Given the description of an element on the screen output the (x, y) to click on. 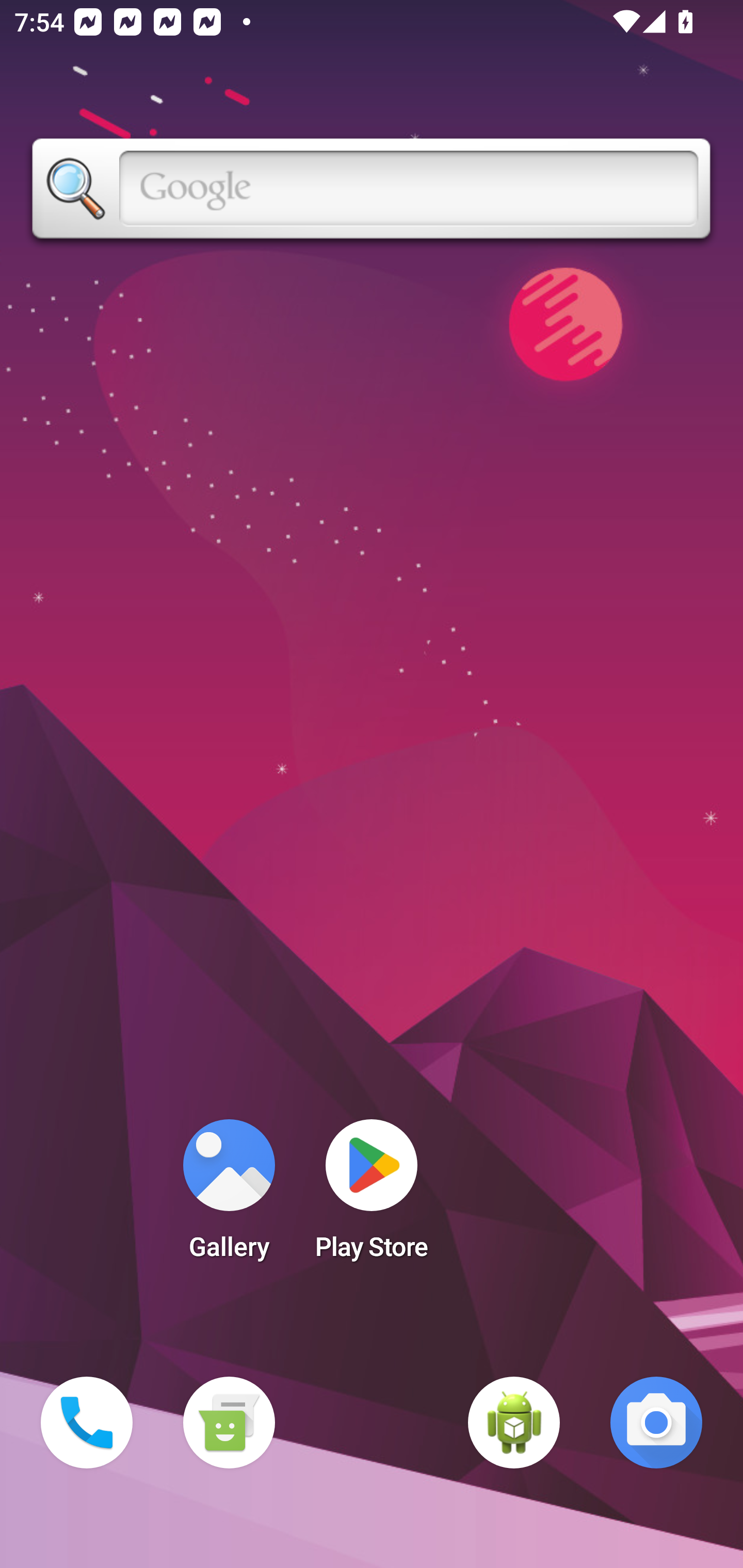
Gallery (228, 1195)
Play Store (371, 1195)
Phone (86, 1422)
Messaging (228, 1422)
WebView Browser Tester (513, 1422)
Camera (656, 1422)
